Given the description of an element on the screen output the (x, y) to click on. 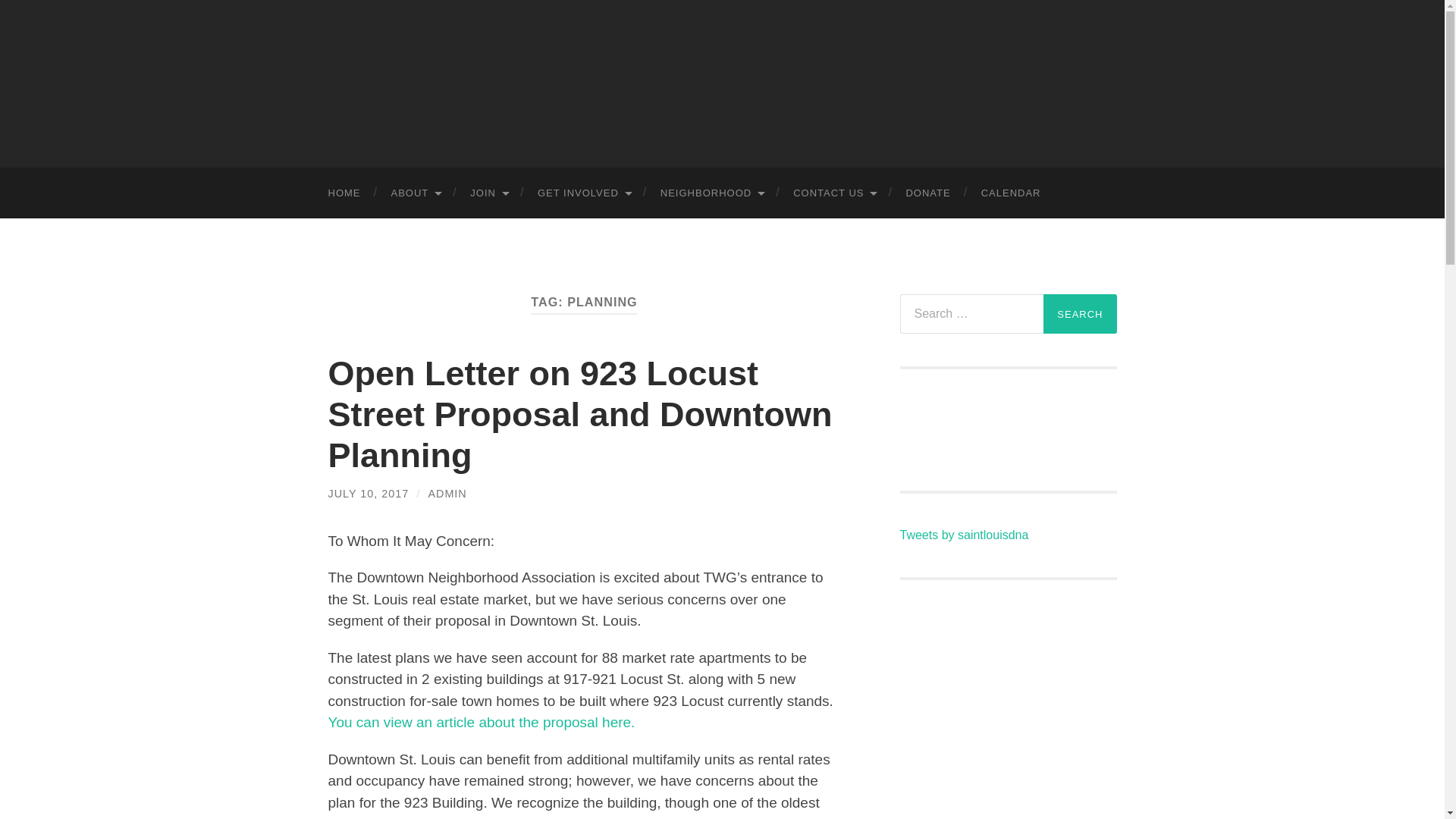
NEIGHBORHOOD (711, 192)
HOME (344, 192)
GET INVOLVED (583, 192)
Search (1079, 313)
CONTACT US (833, 192)
Search (1079, 313)
DONATE (927, 192)
Posts by admin (446, 493)
JOIN (488, 192)
ABOUT (415, 192)
